Given the description of an element on the screen output the (x, y) to click on. 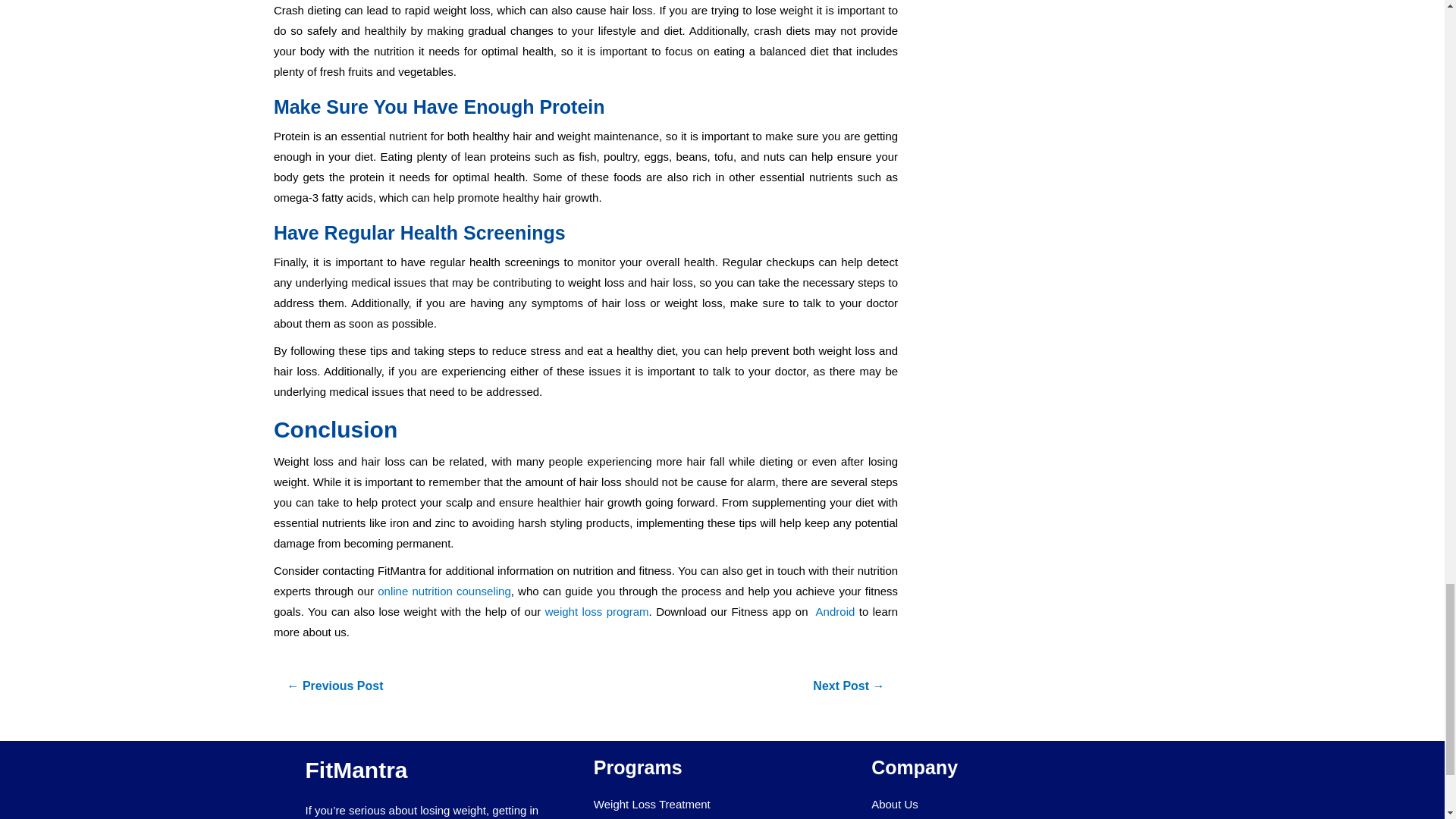
 online nutrition counseling (442, 590)
weight loss program (596, 611)
 Android (833, 611)
